Given the description of an element on the screen output the (x, y) to click on. 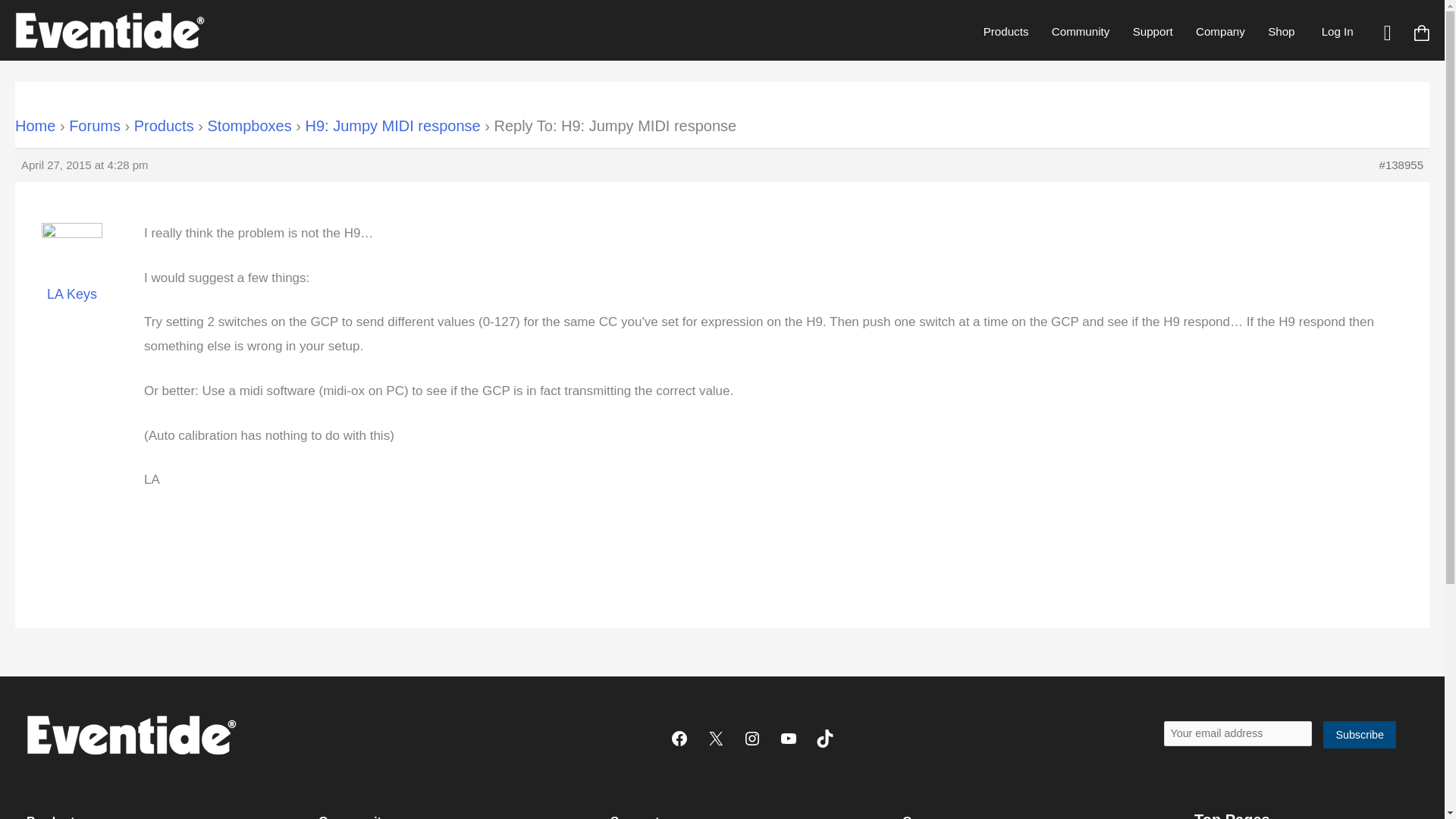
View LA Keys's profile (71, 273)
Support (1152, 31)
eventide-logo-white (130, 734)
Community (1081, 31)
Company (1220, 31)
Log In (1337, 31)
Shop (1281, 31)
Products (1006, 31)
Subscribe (1359, 735)
